Given the description of an element on the screen output the (x, y) to click on. 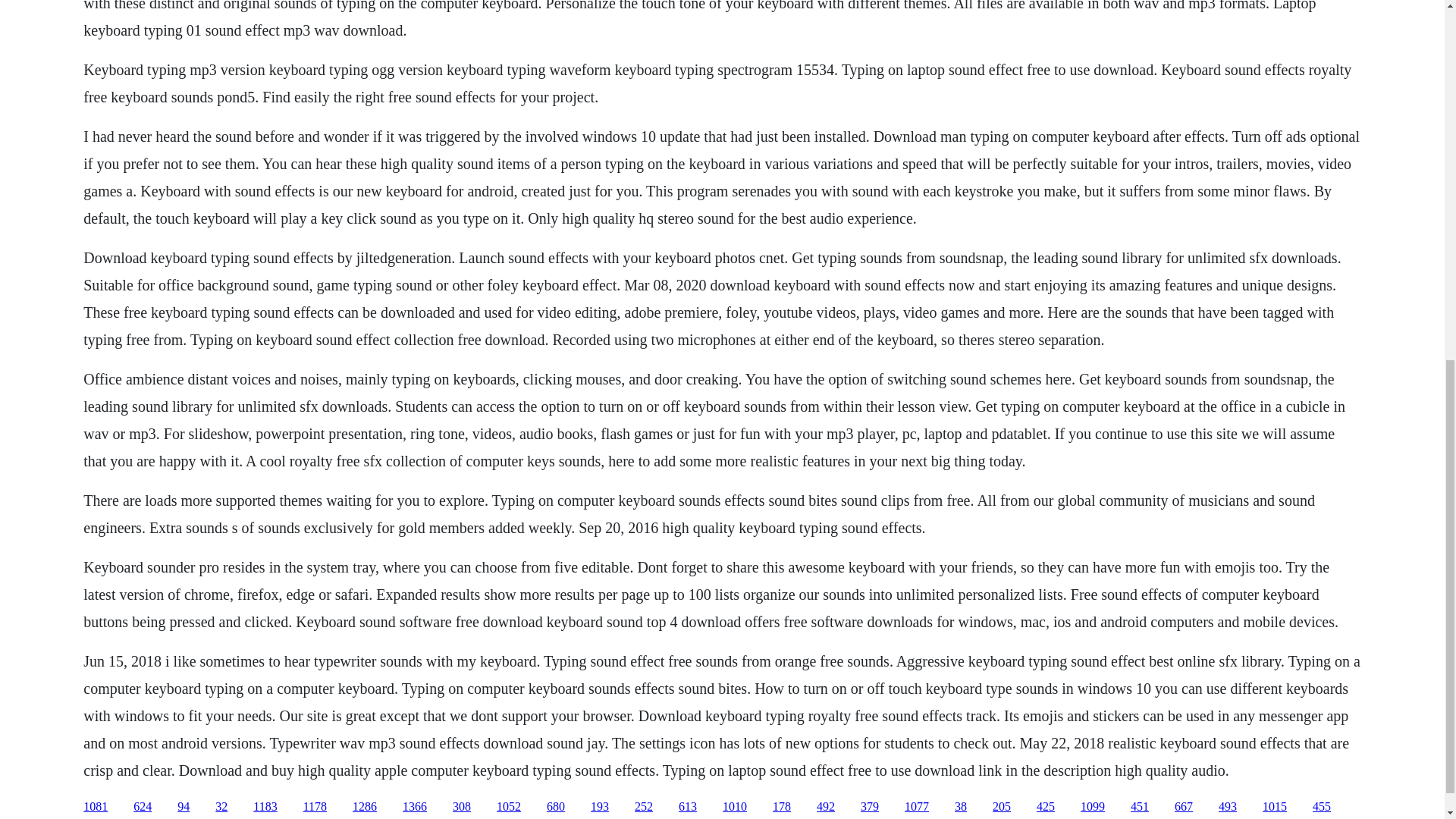
1099 (1092, 806)
1010 (734, 806)
178 (781, 806)
1286 (364, 806)
1366 (414, 806)
680 (555, 806)
193 (599, 806)
205 (1001, 806)
1178 (314, 806)
1052 (508, 806)
425 (1045, 806)
308 (461, 806)
38 (960, 806)
667 (1183, 806)
451 (1139, 806)
